Given the description of an element on the screen output the (x, y) to click on. 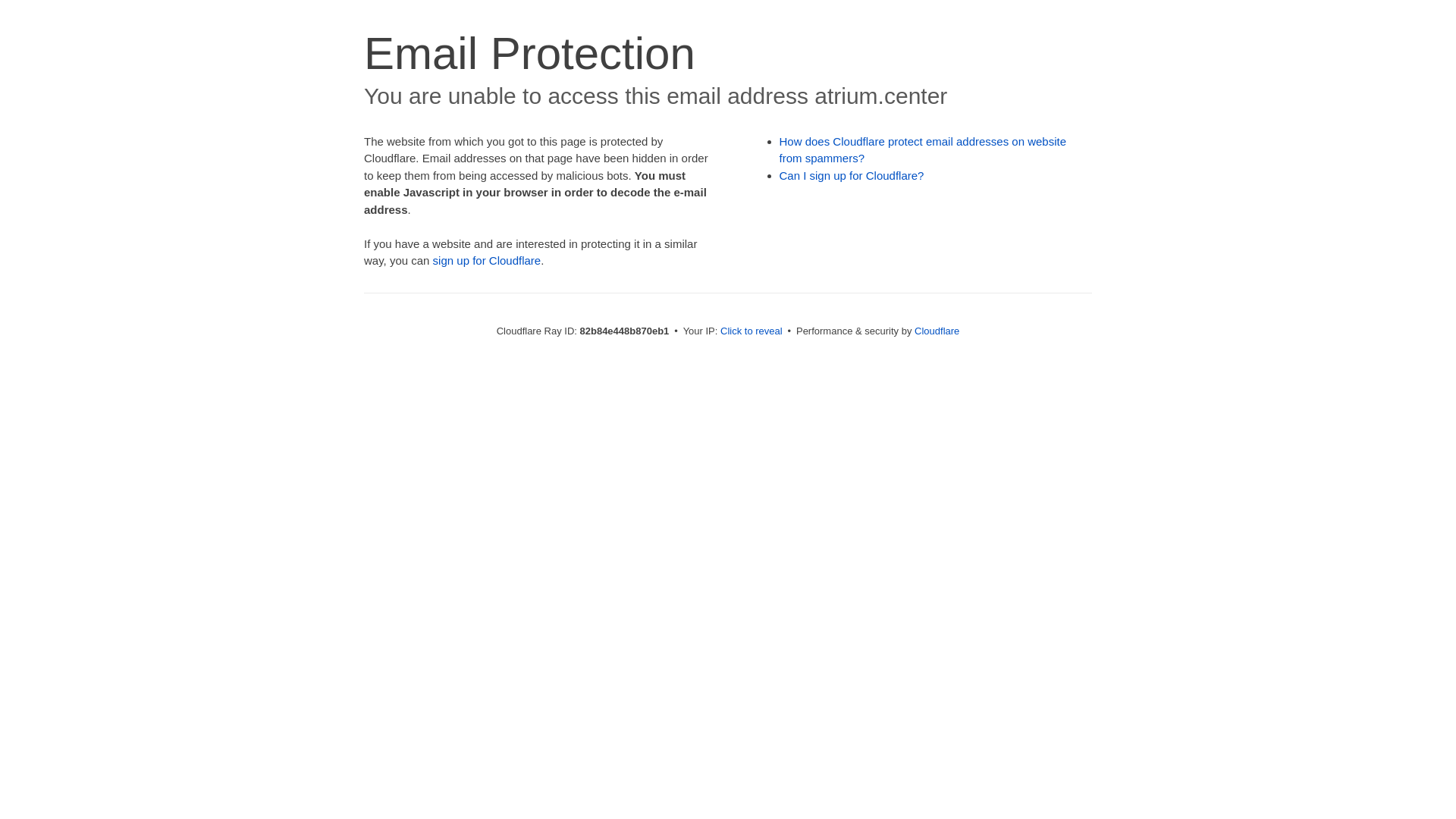
Can I sign up for Cloudflare? Element type: text (851, 175)
Cloudflare Element type: text (936, 330)
Click to reveal Element type: text (751, 330)
sign up for Cloudflare Element type: text (487, 260)
